Given the description of an element on the screen output the (x, y) to click on. 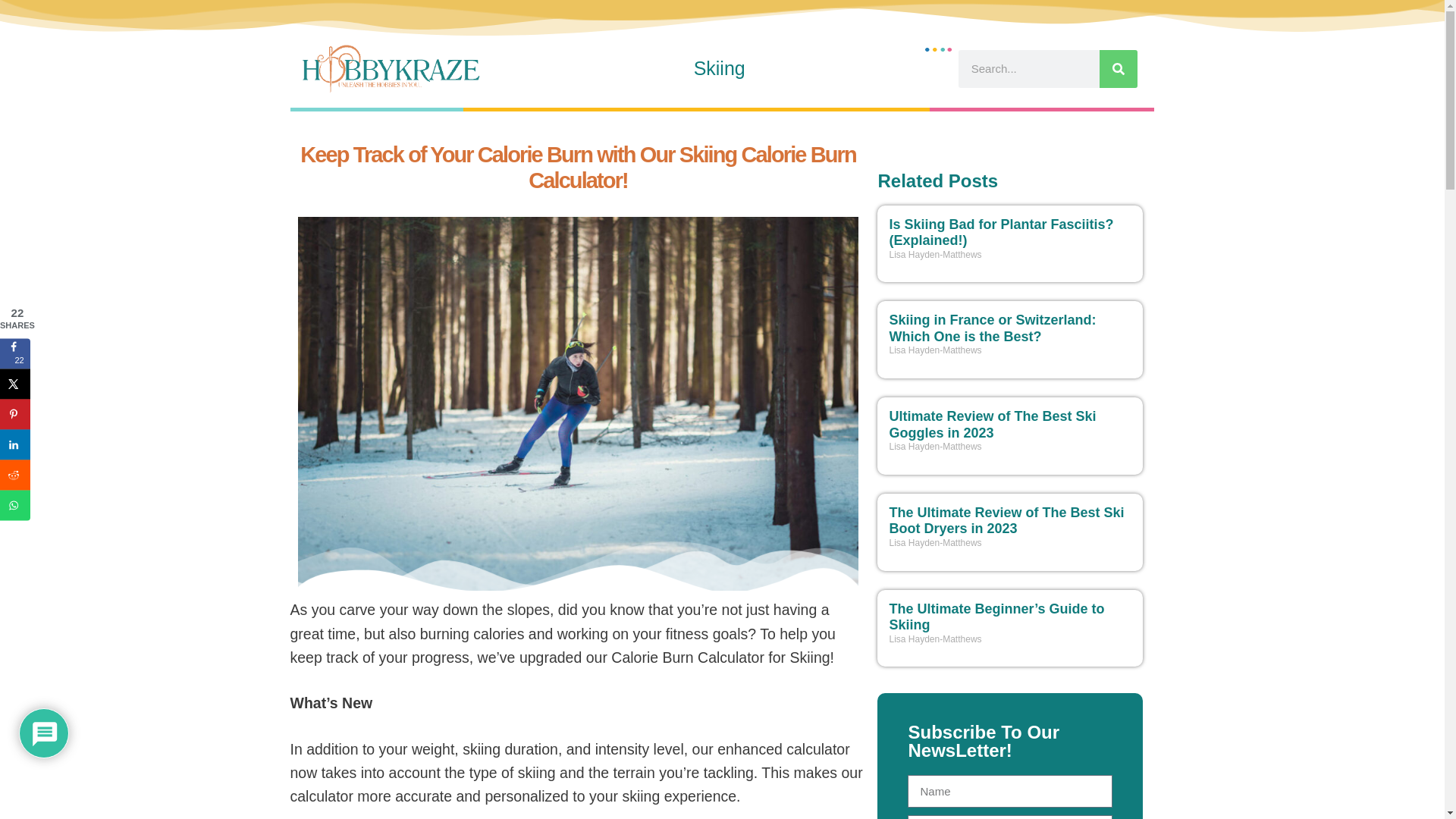
Skiing (719, 68)
